Given the description of an element on the screen output the (x, y) to click on. 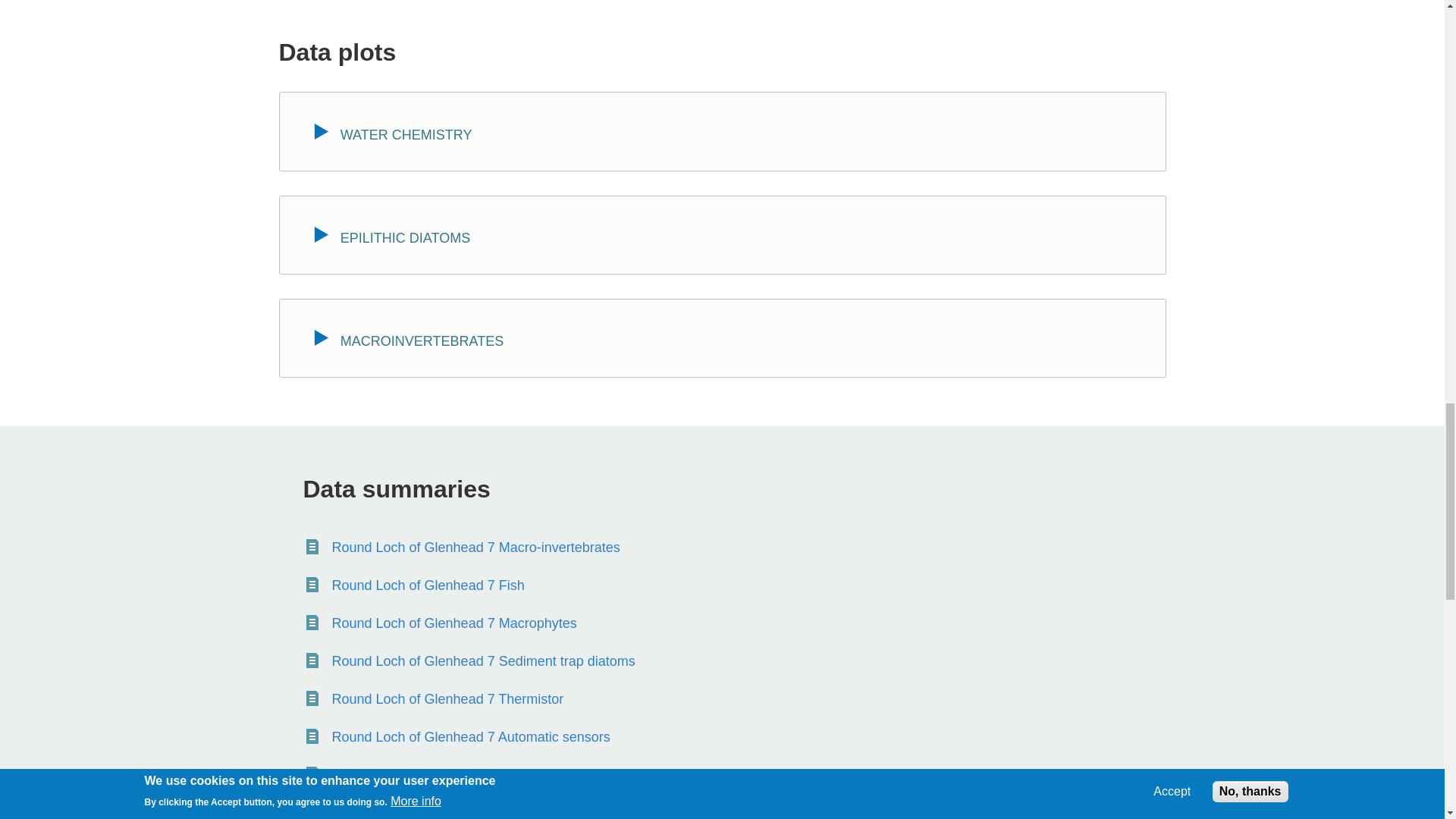
Round Loch of Glenhead 7 Macrophytes (453, 624)
uwmn-site-07-sensor.pdf (470, 738)
Round Loch of Glenhead 7 Fish (427, 587)
uwmn-site-07-fish.pdf (427, 587)
uwmn-site-07-thermistor.pdf (447, 700)
uwmn-site-07-inverts.pdf (475, 548)
Round Loch of Glenhead 7 Sediment trap diatoms (482, 662)
Round Loch of Glenhead 7 Macro-invertebrates (475, 548)
uwmn-lake-traps-SCP.pdf (482, 812)
uwmn-lake-traps-lead.pdf (388, 776)
uwmn-site-07-macros.pdf (453, 624)
uwmn-site-07-diatoms.pdf (482, 662)
